Given the description of an element on the screen output the (x, y) to click on. 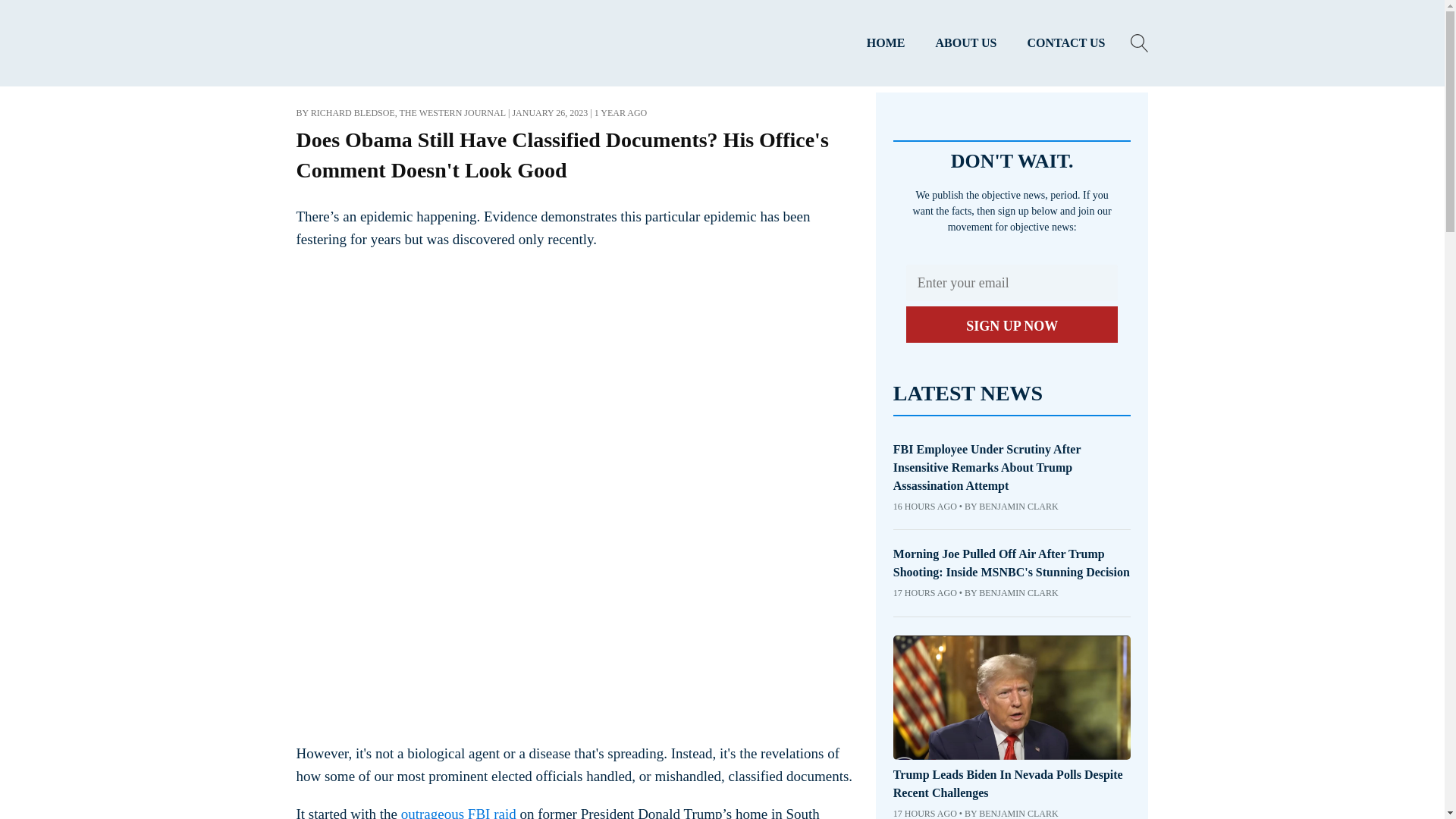
ABOUT US (965, 43)
outrageous FBI raid (458, 812)
Advertisement (408, 493)
SIGN UP NOW (1011, 324)
SIGN UP NOW (1011, 324)
RICHARD BLEDSOE, THE WESTERN JOURNAL (408, 112)
CONTACT US (1066, 43)
HOME (885, 43)
